Given the description of an element on the screen output the (x, y) to click on. 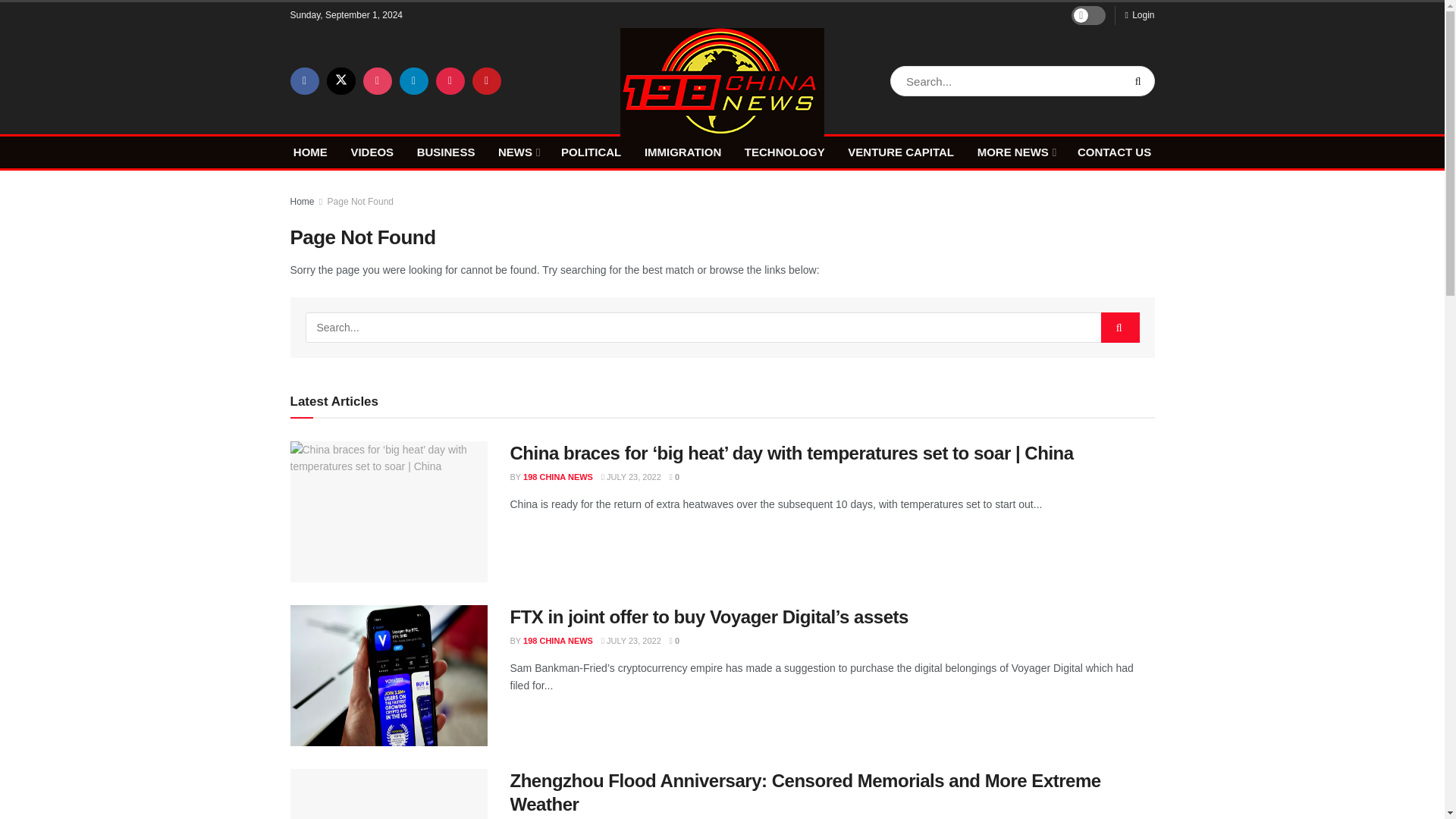
VENTURE CAPITAL (900, 151)
HOME (310, 151)
TECHNOLOGY (784, 151)
Login (1139, 14)
NEWS (517, 151)
IMMIGRATION (682, 151)
VIDEOS (371, 151)
MORE NEWS (1015, 151)
CONTACT US (1114, 151)
BUSINESS (446, 151)
